Given the description of an element on the screen output the (x, y) to click on. 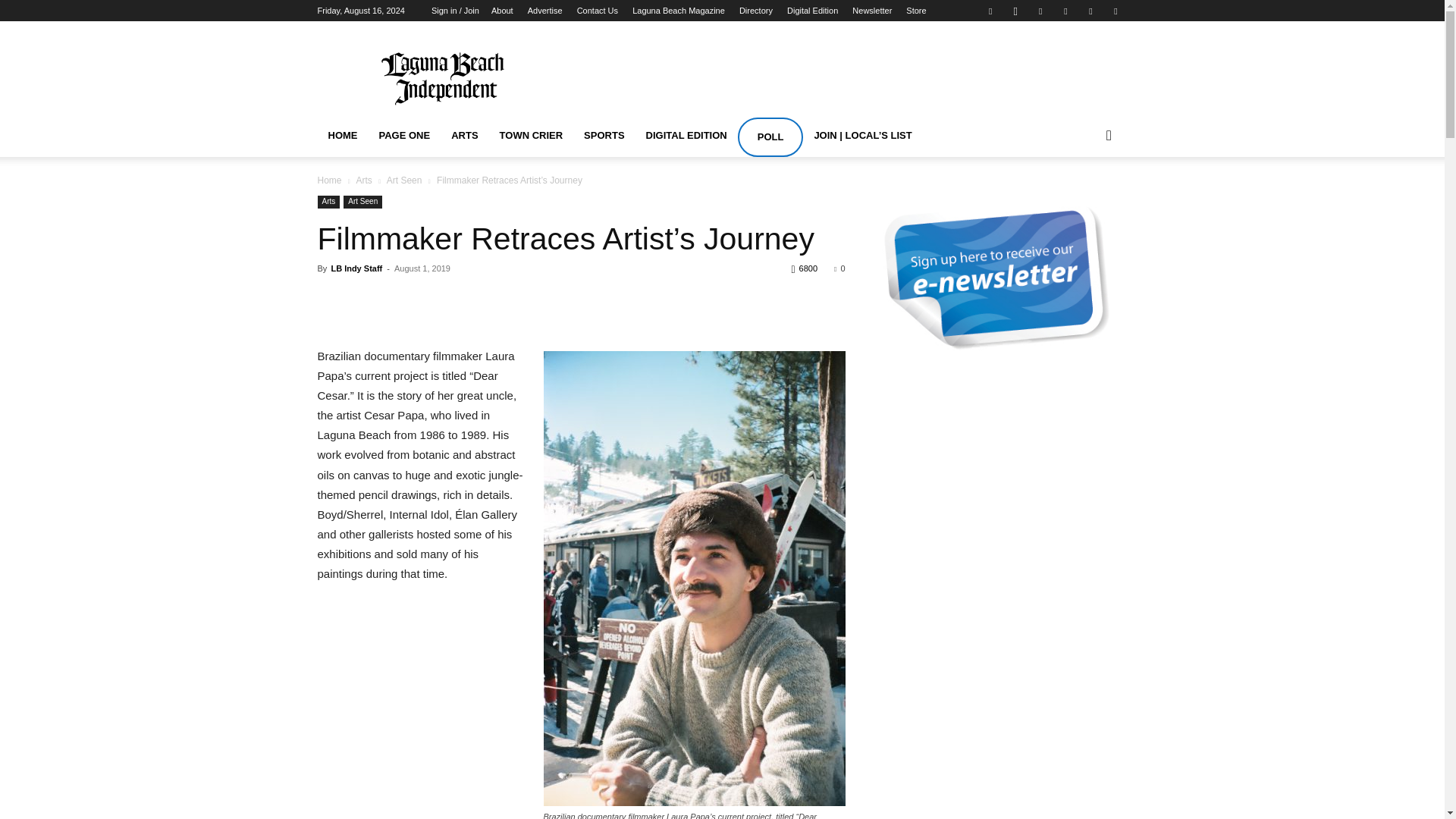
View all posts in Arts (363, 180)
Linkedin (1040, 10)
Instagram (1015, 10)
Facebook (989, 10)
RSS (1065, 10)
Twitter (1090, 10)
View all posts in Art Seen (404, 180)
Youtube (1114, 10)
